Given the description of an element on the screen output the (x, y) to click on. 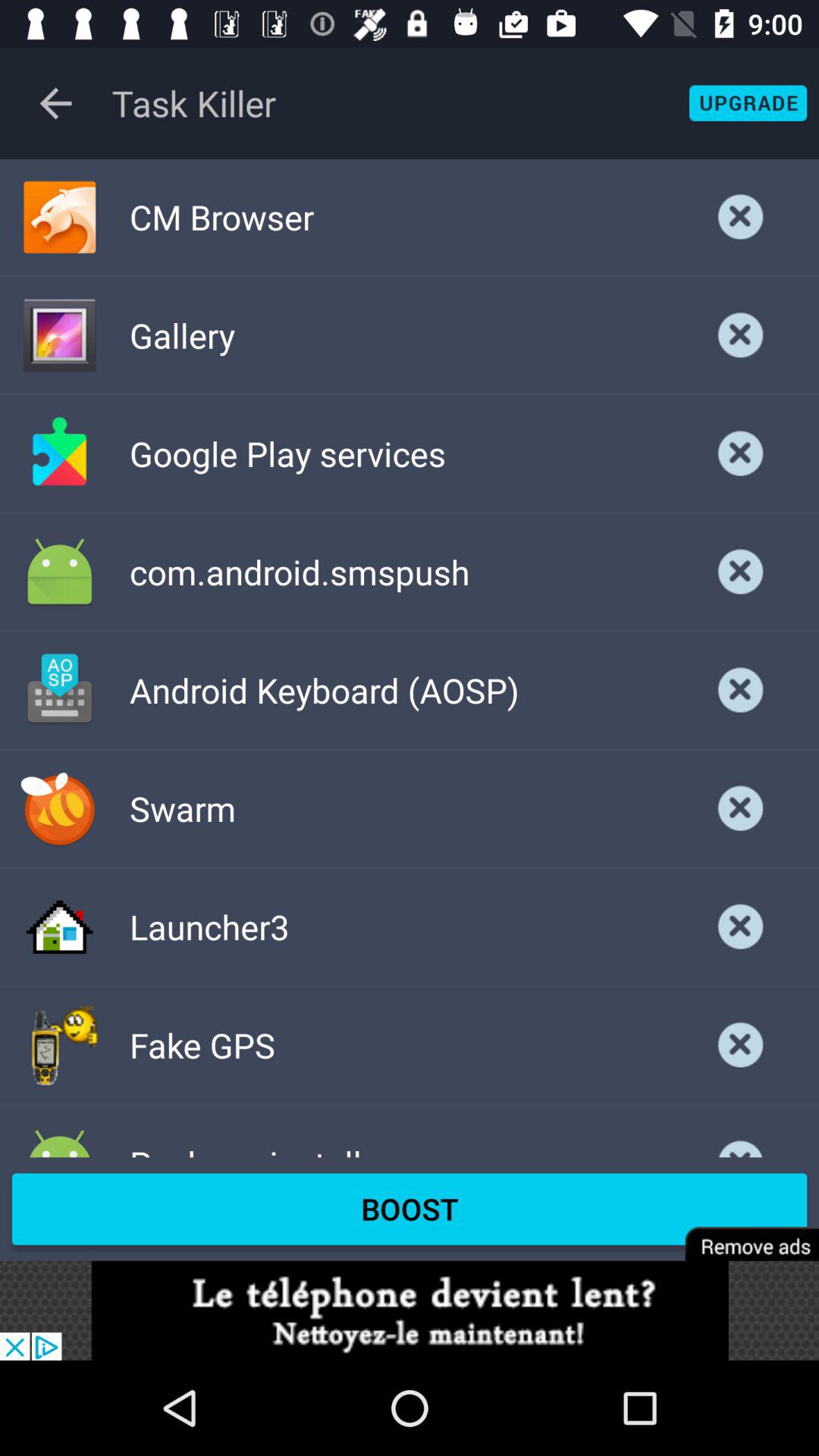
remove advertisement (742, 1233)
